Given the description of an element on the screen output the (x, y) to click on. 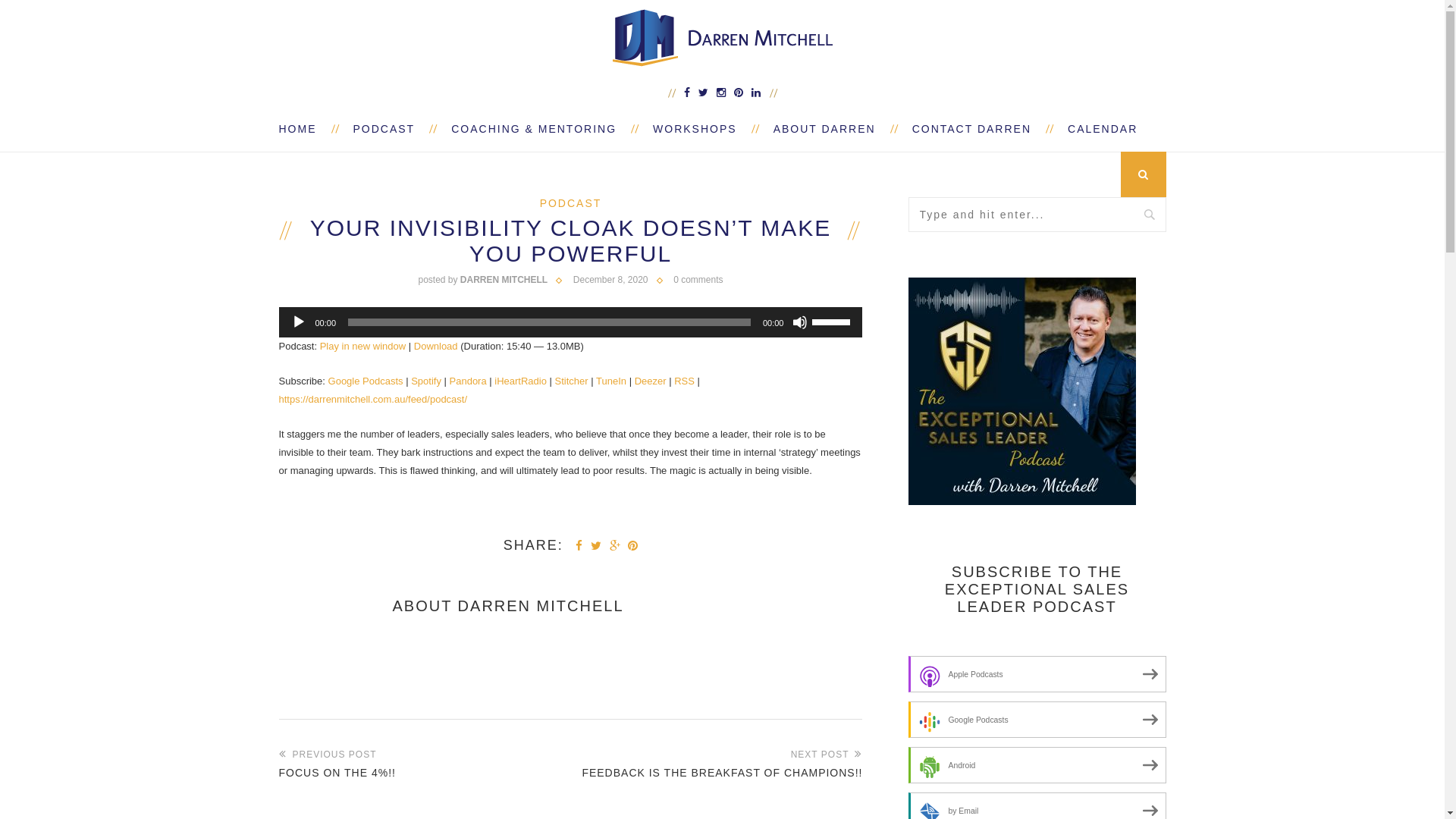
PODCAST Element type: text (570, 203)
ABOUT DARREN Element type: text (824, 128)
FEEDBACK IS THE BREAKFAST OF CHAMPIONS!! Element type: text (716, 772)
FOCUS ON THE 4%!! Element type: text (425, 772)
RSS Element type: text (684, 380)
Stitcher Element type: text (571, 380)
https://darrenmitchell.com.au/feed/podcast/ Element type: text (373, 398)
Deezer Element type: text (650, 380)
Use Up/Down Arrow keys to increase or decrease volume. Element type: text (833, 320)
iHeartRadio Element type: text (520, 380)
Play Element type: hover (298, 321)
COACHING & MENTORING Element type: text (533, 128)
Google Podcasts Element type: text (1037, 719)
Download Element type: text (436, 345)
Apple Podcasts Element type: text (1037, 673)
Mute Element type: hover (799, 321)
Spotify Element type: text (426, 380)
Pandora Element type: text (467, 380)
WORKSHOPS Element type: text (694, 128)
CALENDAR Element type: text (1093, 128)
CONTACT DARREN Element type: text (971, 128)
TuneIn Element type: text (611, 380)
HOME Element type: text (307, 128)
PODCAST Element type: text (384, 128)
DARREN MITCHELL Element type: text (541, 606)
Play in new window Element type: text (362, 345)
Google Podcasts Element type: text (365, 380)
Android Element type: text (1037, 764)
